Given the description of an element on the screen output the (x, y) to click on. 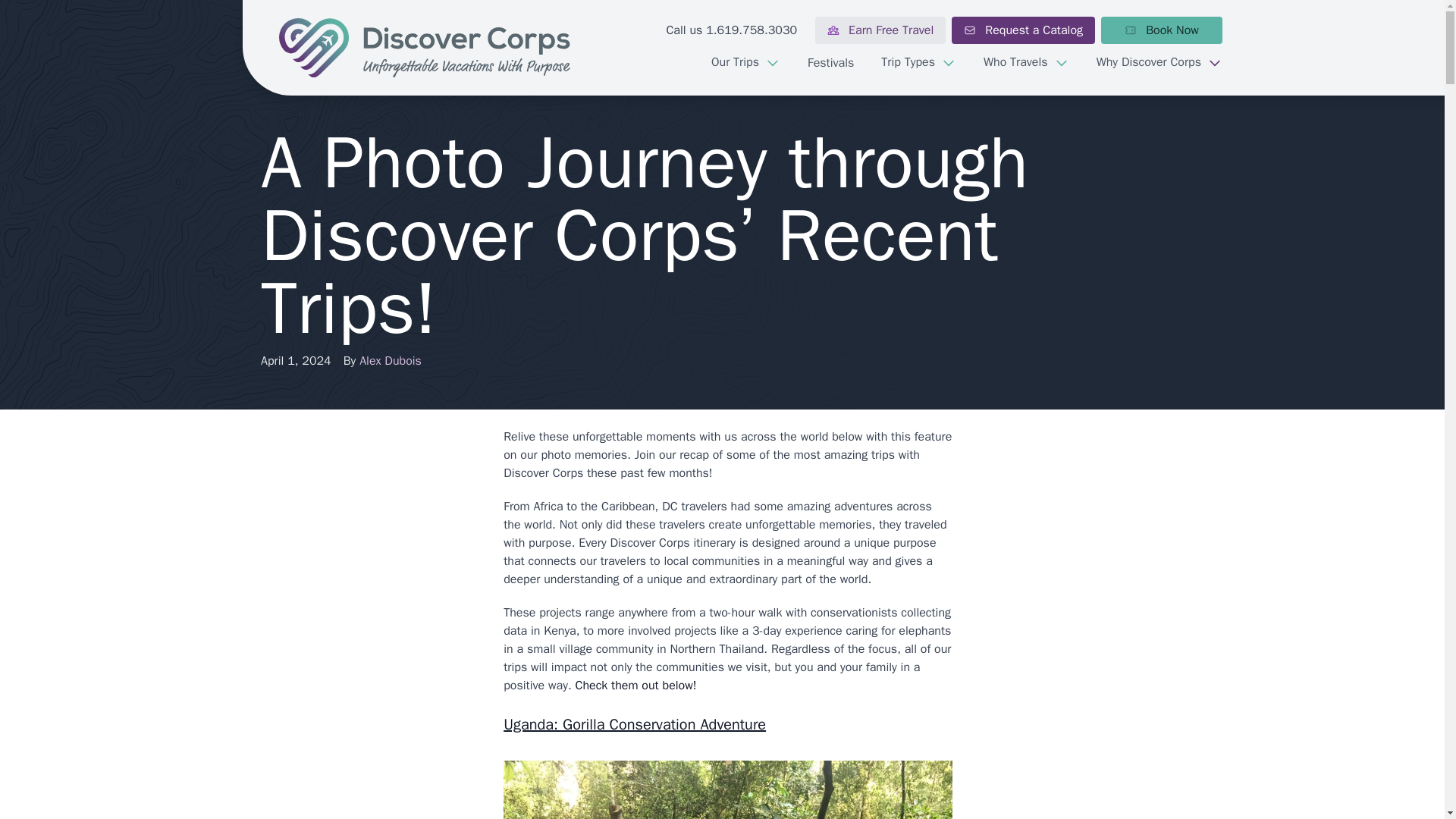
Request a Catalog (1023, 30)
Earn Free Travel (879, 30)
Our Trips (745, 62)
Book Now (1161, 30)
Call us 1.619.758.3030 (731, 30)
